Given the description of an element on the screen output the (x, y) to click on. 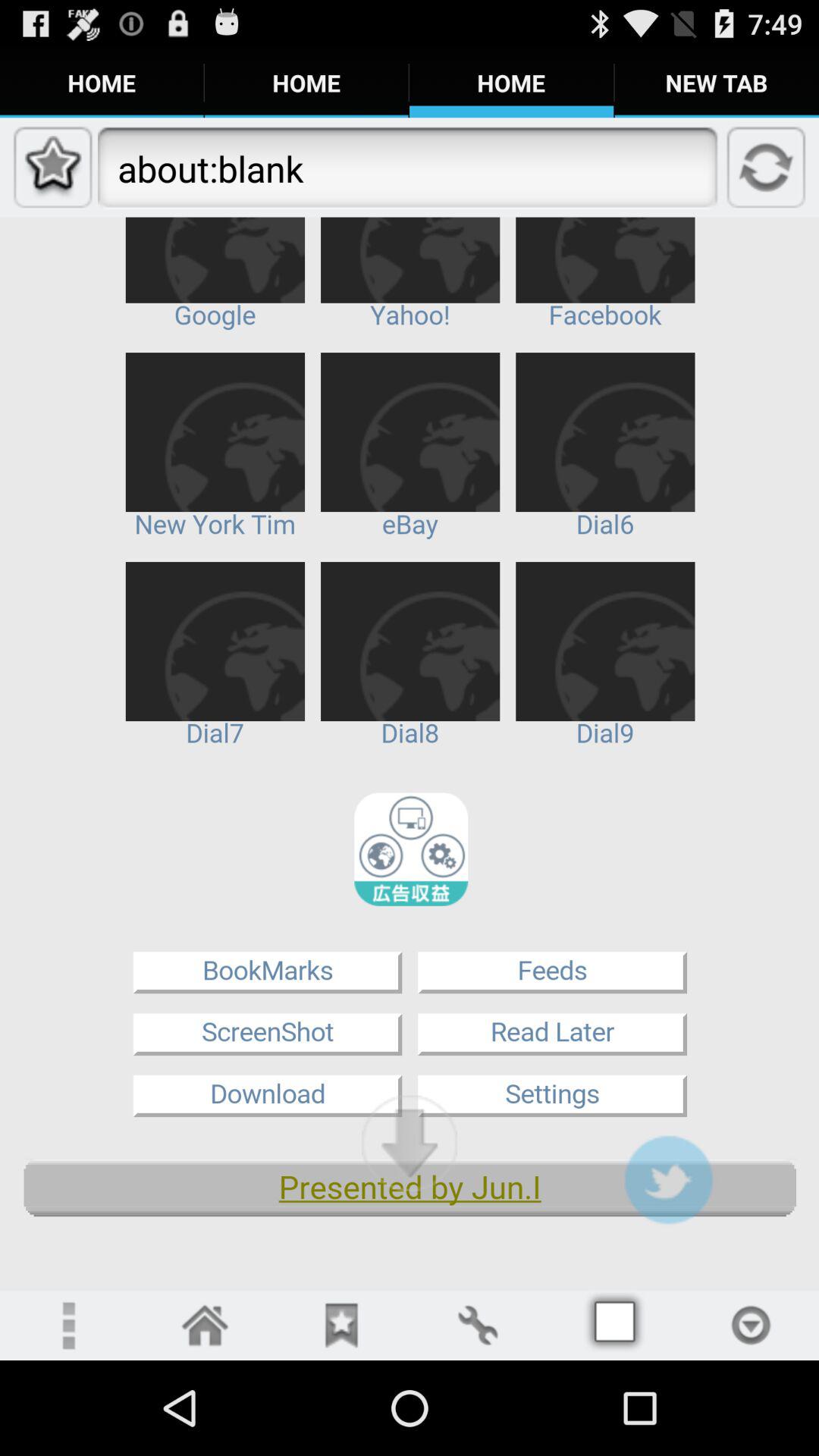
go to twitter (668, 1179)
